Given the description of an element on the screen output the (x, y) to click on. 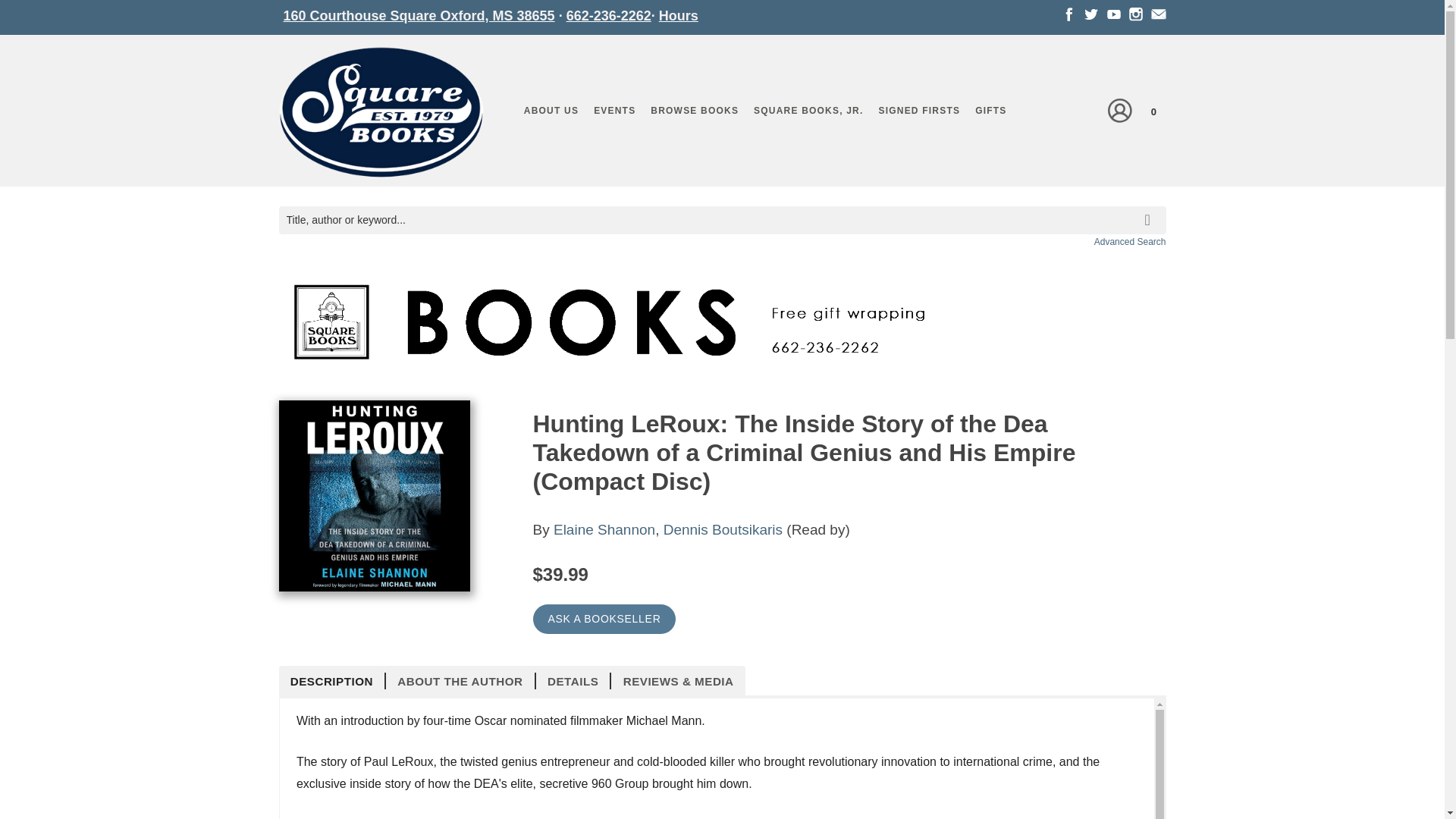
Ask a Bookseller (603, 618)
GIFTS (990, 110)
662-236-2262 (608, 15)
Advanced Search (1130, 241)
ABOUT US (551, 110)
SQUARE BOOKS, JR. (807, 110)
Home (381, 115)
search (1150, 209)
Hours (678, 15)
Title, author or keyword... (722, 220)
SIGNED FIRSTS (919, 110)
160 Courthouse Square Oxford, MS 38655 (418, 15)
EVENTS (614, 110)
BROWSE BOOKS (694, 110)
